Given the description of an element on the screen output the (x, y) to click on. 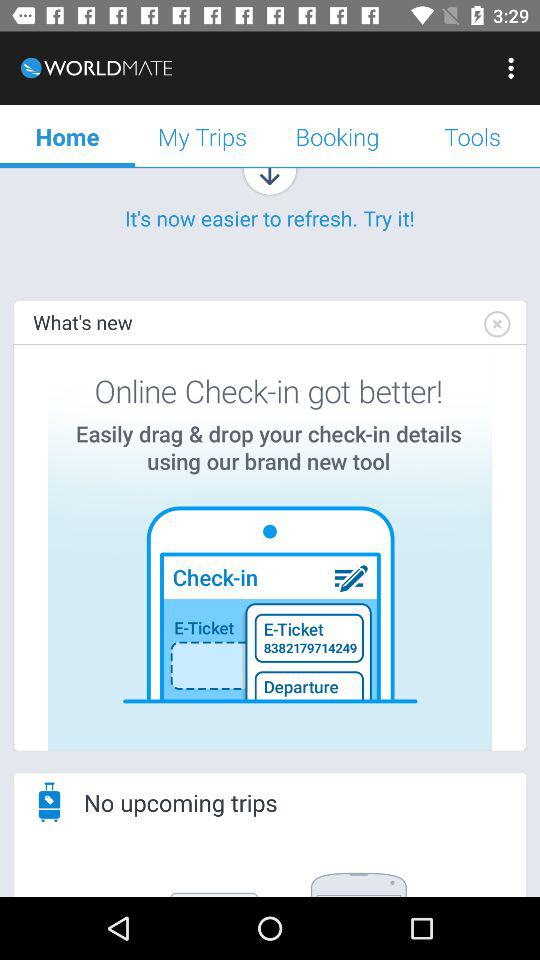
turn off tools icon (472, 136)
